Given the description of an element on the screen output the (x, y) to click on. 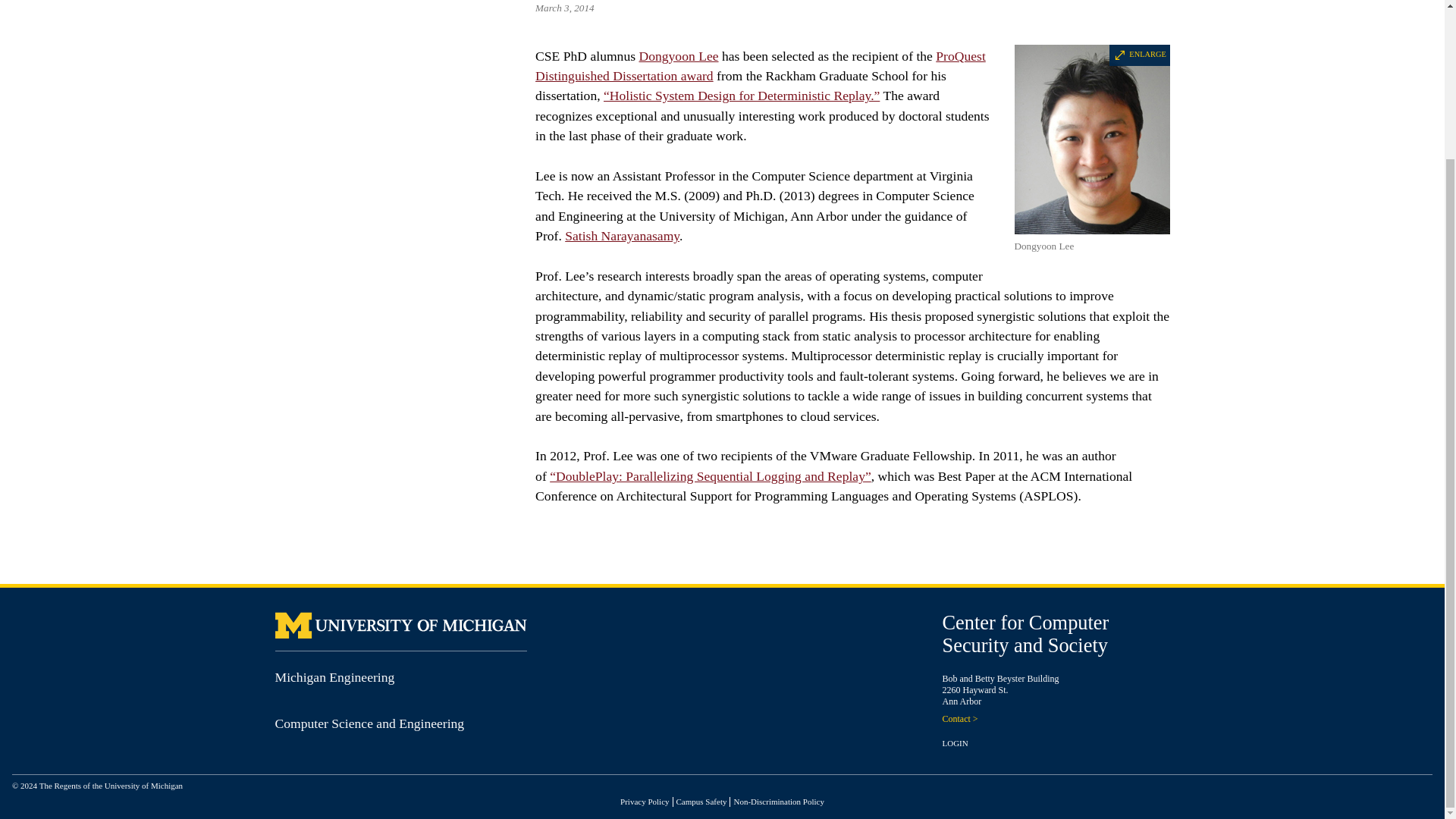
Computer Science and Engineering (369, 723)
Dongyoon Lee (678, 55)
Non-Discrimination Policy (778, 800)
Center for Computer Security and Society (1025, 633)
ProQuest Distinguished Dissertation award (760, 65)
Michigan Engineering (334, 676)
Privacy Policy (644, 800)
LOGIN (955, 742)
The Regents of the University of Michigan (111, 785)
Satish Narayanasamy (621, 235)
Campus Safety (701, 800)
